Given the description of an element on the screen output the (x, y) to click on. 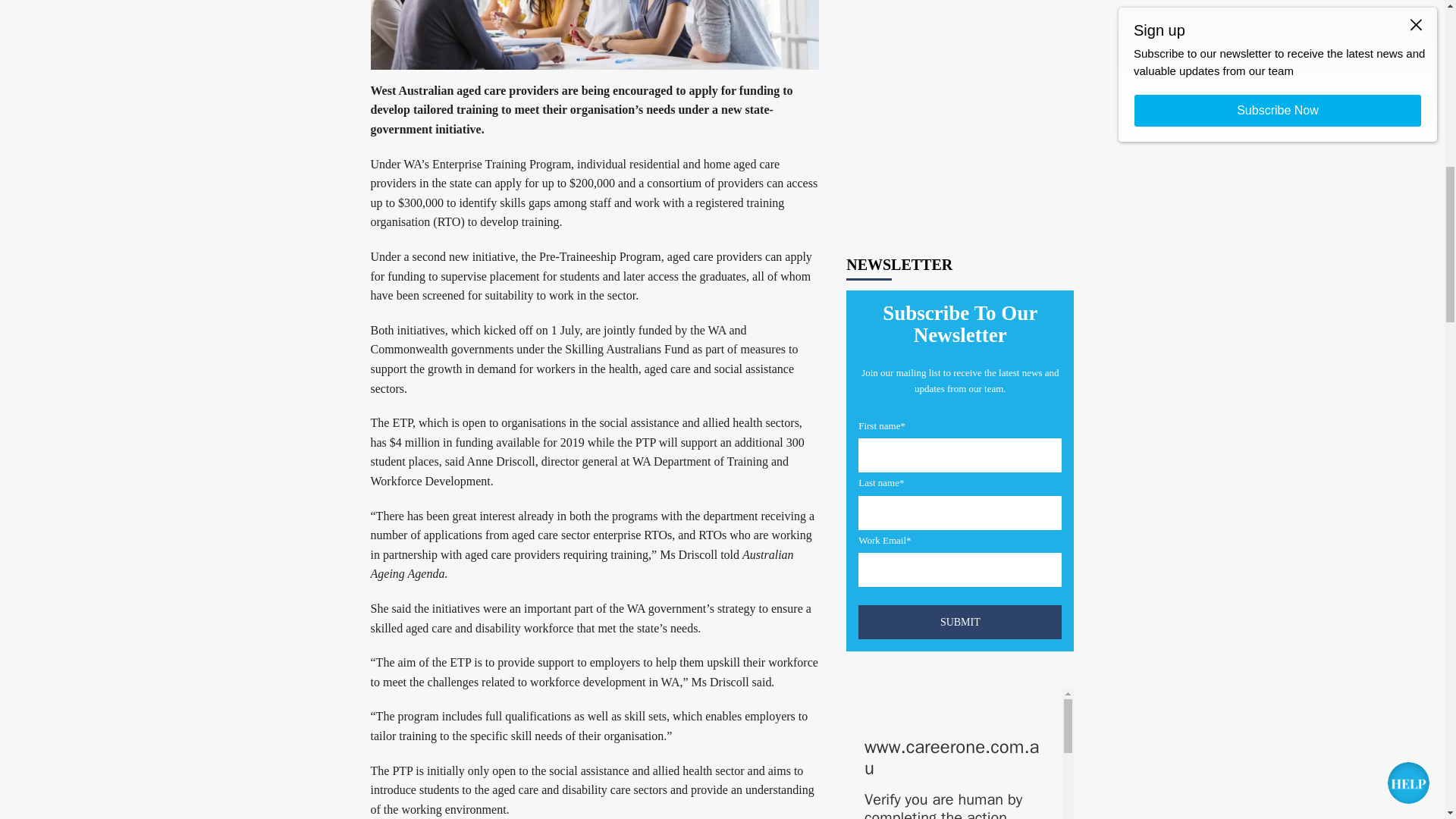
Submit (960, 181)
